Given the description of an element on the screen output the (x, y) to click on. 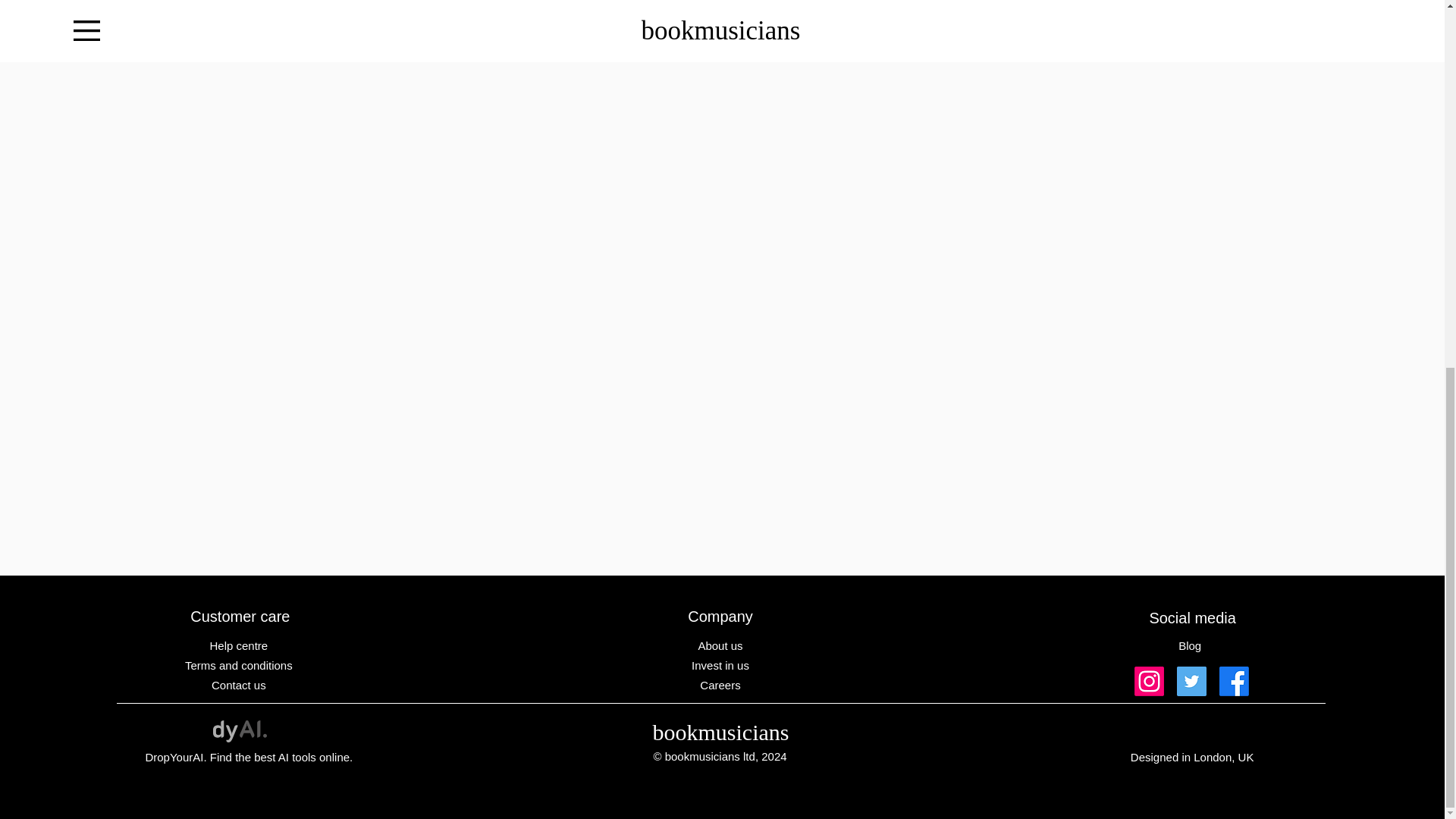
Help centre (239, 645)
Contact us (239, 685)
Terms and conditions (239, 665)
Blog (1191, 645)
Invest in us (721, 665)
Careers (721, 685)
About us (721, 645)
